Given the description of an element on the screen output the (x, y) to click on. 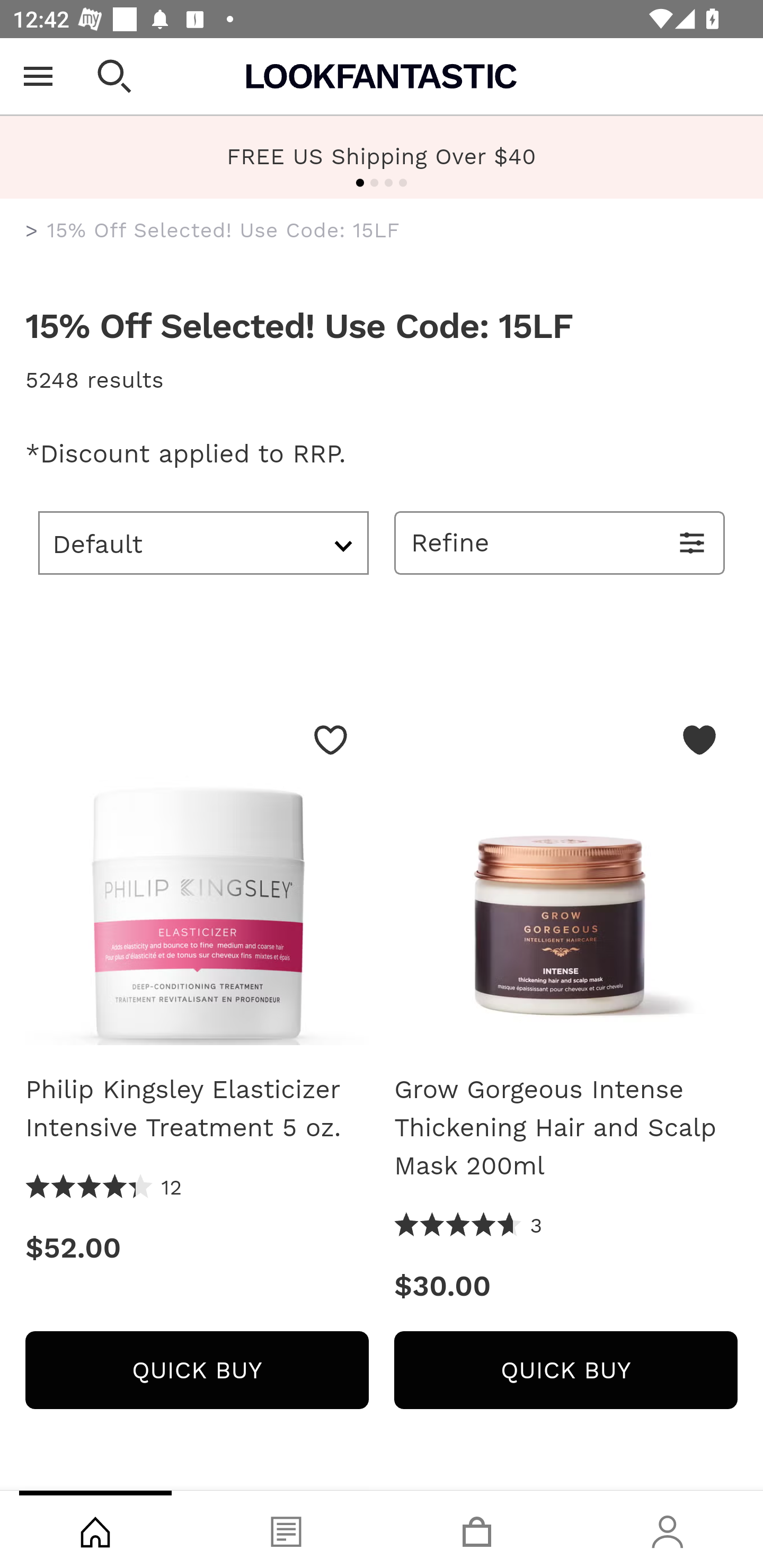
Open Menu (38, 75)
Open search (114, 75)
Lookfantastic USA (381, 75)
FREE US Shipping Over $40 (381, 157)
FREE US Shipping Over $40 (381, 155)
us.lookfantastic (32, 230)
Default (203, 542)
Refine (559, 542)
Save to Wishlist (330, 740)
Saved to Wishlist (698, 740)
4.33 Stars 12 Reviews (104, 1187)
4.67 Stars 3 Reviews (468, 1225)
Price: $52.00 (196, 1247)
Price: $30.00 (565, 1286)
Shop, tab, 1 of 4 (95, 1529)
Blog, tab, 2 of 4 (285, 1529)
Basket, tab, 3 of 4 (476, 1529)
Account, tab, 4 of 4 (667, 1529)
